Given the description of an element on the screen output the (x, y) to click on. 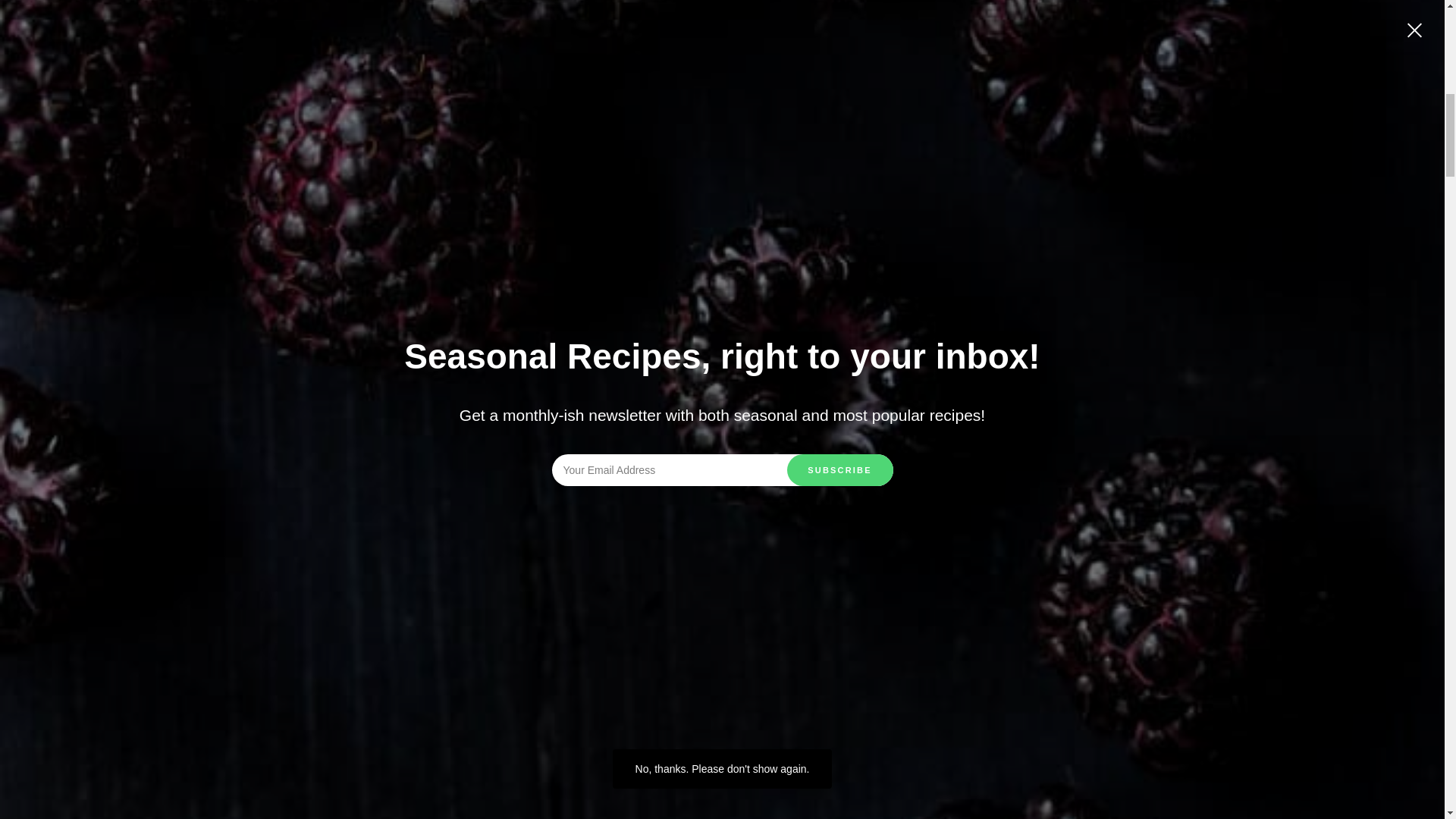
Upside Down Apricot Snacking Cake (787, 789)
